Given the description of an element on the screen output the (x, y) to click on. 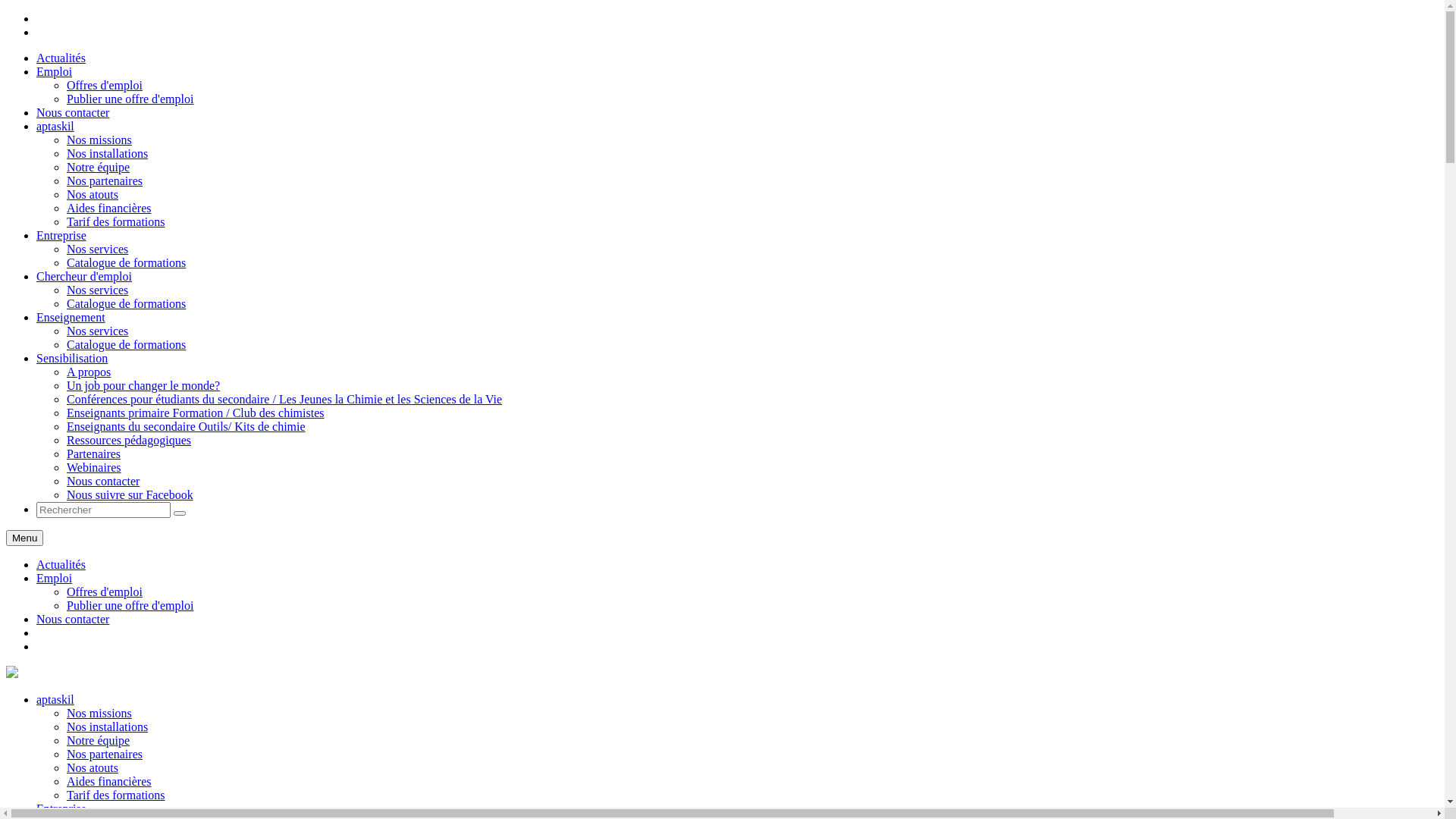
Catalogue de formations Element type: text (125, 303)
Entreprise Element type: text (61, 808)
Nos missions Element type: text (98, 139)
Publier une offre d'emploi Element type: text (129, 98)
Enseignants du secondaire Outils/ Kits de chimie Element type: text (185, 426)
Catalogue de formations Element type: text (125, 344)
Un job pour changer le monde? Element type: text (142, 385)
Sensibilisation Element type: text (71, 357)
Webinaires Element type: text (93, 467)
Emploi Element type: text (54, 71)
Nous contacter Element type: text (72, 618)
Nos installations Element type: text (106, 726)
Nous contacter Element type: text (102, 480)
Nos missions Element type: text (98, 712)
Enseignants primaire Formation / Club des chimistes Element type: text (195, 412)
Enseignement Element type: text (70, 316)
aptaskil Element type: text (55, 125)
aptaskil Element type: text (55, 699)
Nous suivre sur Facebook Element type: text (129, 494)
Menu Element type: text (24, 538)
Publier une offre d'emploi Element type: text (129, 605)
Chercheur d'emploi Element type: text (83, 275)
Nos services Element type: text (97, 289)
Offres d'emploi Element type: text (104, 84)
Emploi Element type: text (54, 577)
Catalogue de formations Element type: text (125, 262)
Nos services Element type: text (97, 248)
Nos atouts Element type: text (92, 194)
Tarif des formations Element type: text (115, 794)
Nos installations Element type: text (106, 153)
Tarif des formations Element type: text (115, 221)
Offres d'emploi Element type: text (104, 591)
Nos partenaires Element type: text (104, 753)
Nous contacter Element type: text (72, 112)
Nos atouts Element type: text (92, 767)
Partenaires Element type: text (93, 453)
Entreprise Element type: text (61, 235)
aptaskil Element type: hover (12, 673)
A propos Element type: text (88, 371)
Nos services Element type: text (97, 330)
Nos partenaires Element type: text (104, 180)
